Given the description of an element on the screen output the (x, y) to click on. 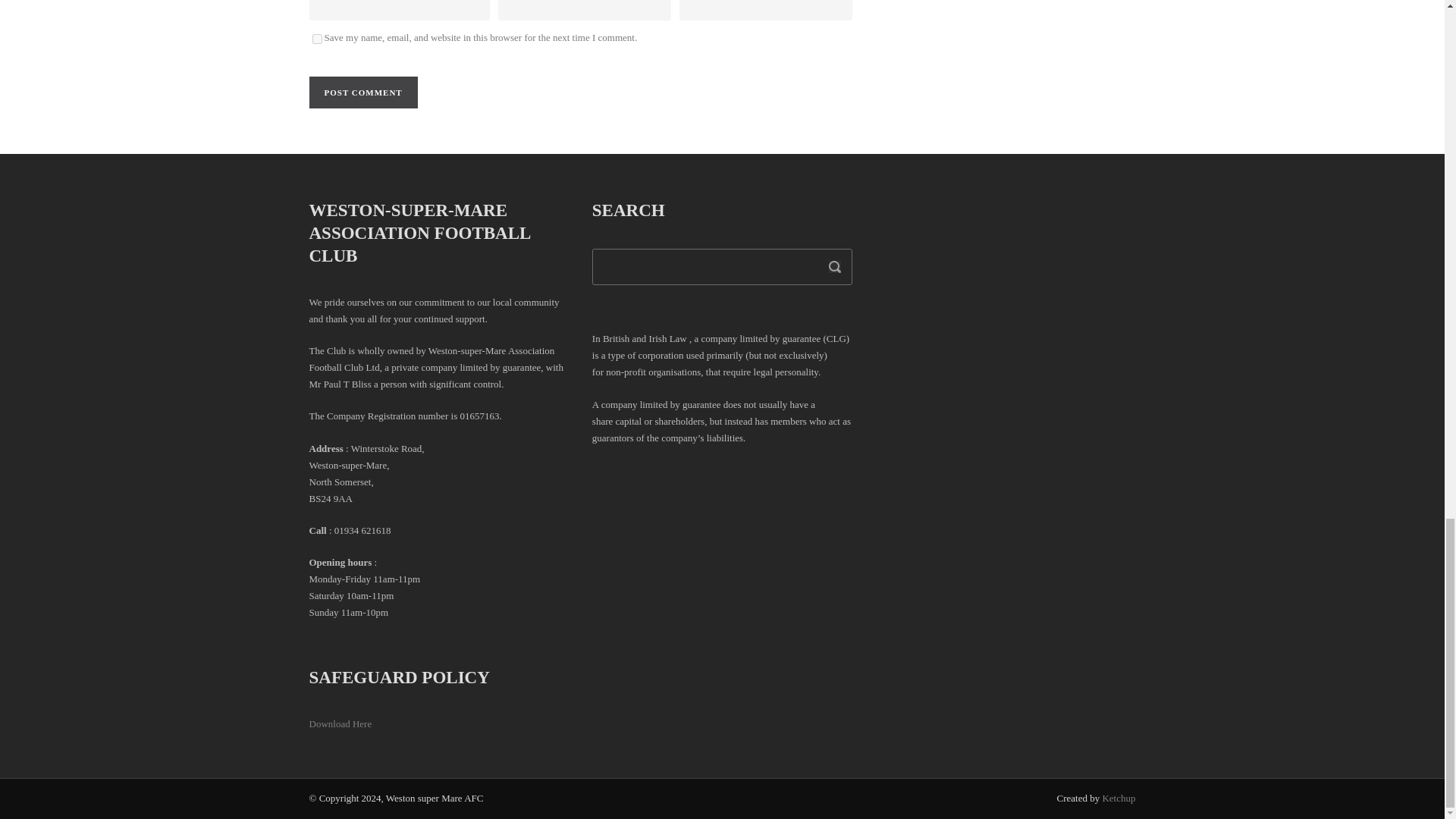
yes (317, 39)
Post Comment (362, 92)
